Given the description of an element on the screen output the (x, y) to click on. 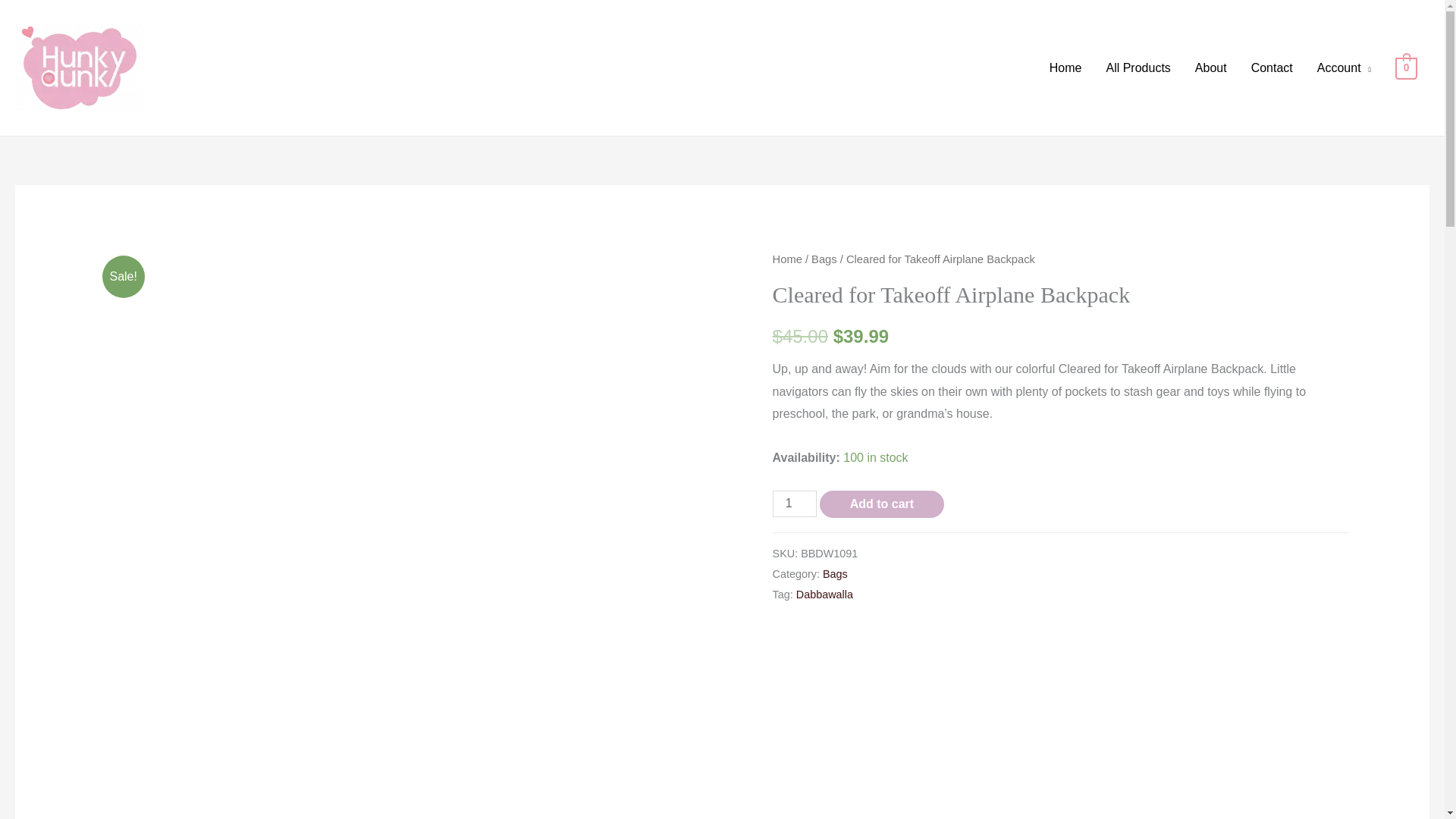
About (1210, 68)
Account (1343, 68)
Home (1065, 68)
Add to cart (881, 503)
Dabbawalla (824, 594)
Bags (834, 573)
1 (794, 503)
0 (1405, 66)
View your shopping cart (1405, 66)
Contact (1271, 68)
Home (787, 259)
All Products (1137, 68)
Bags (823, 259)
